Given the description of an element on the screen output the (x, y) to click on. 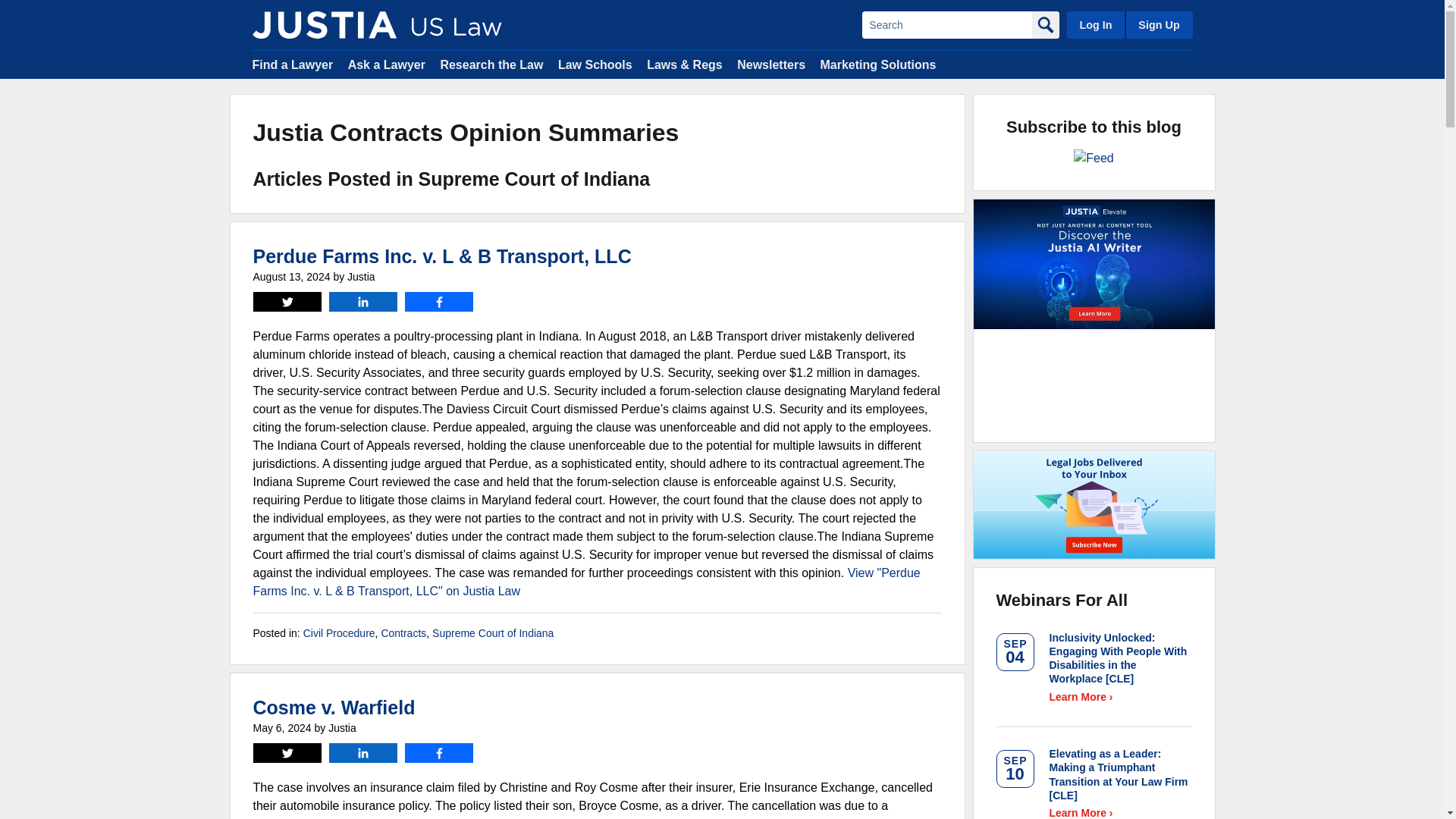
Cosme v. Warfield (333, 707)
View all posts in Contracts (403, 633)
Supreme Court of Indiana (492, 633)
Civil Procedure (338, 633)
View all posts in Civil Procedure (338, 633)
Marketing Solutions (877, 64)
Justia Contracts Opinion Summaries (323, 24)
Sign Up (1158, 24)
Search (945, 24)
Newsletters (770, 64)
